Given the description of an element on the screen output the (x, y) to click on. 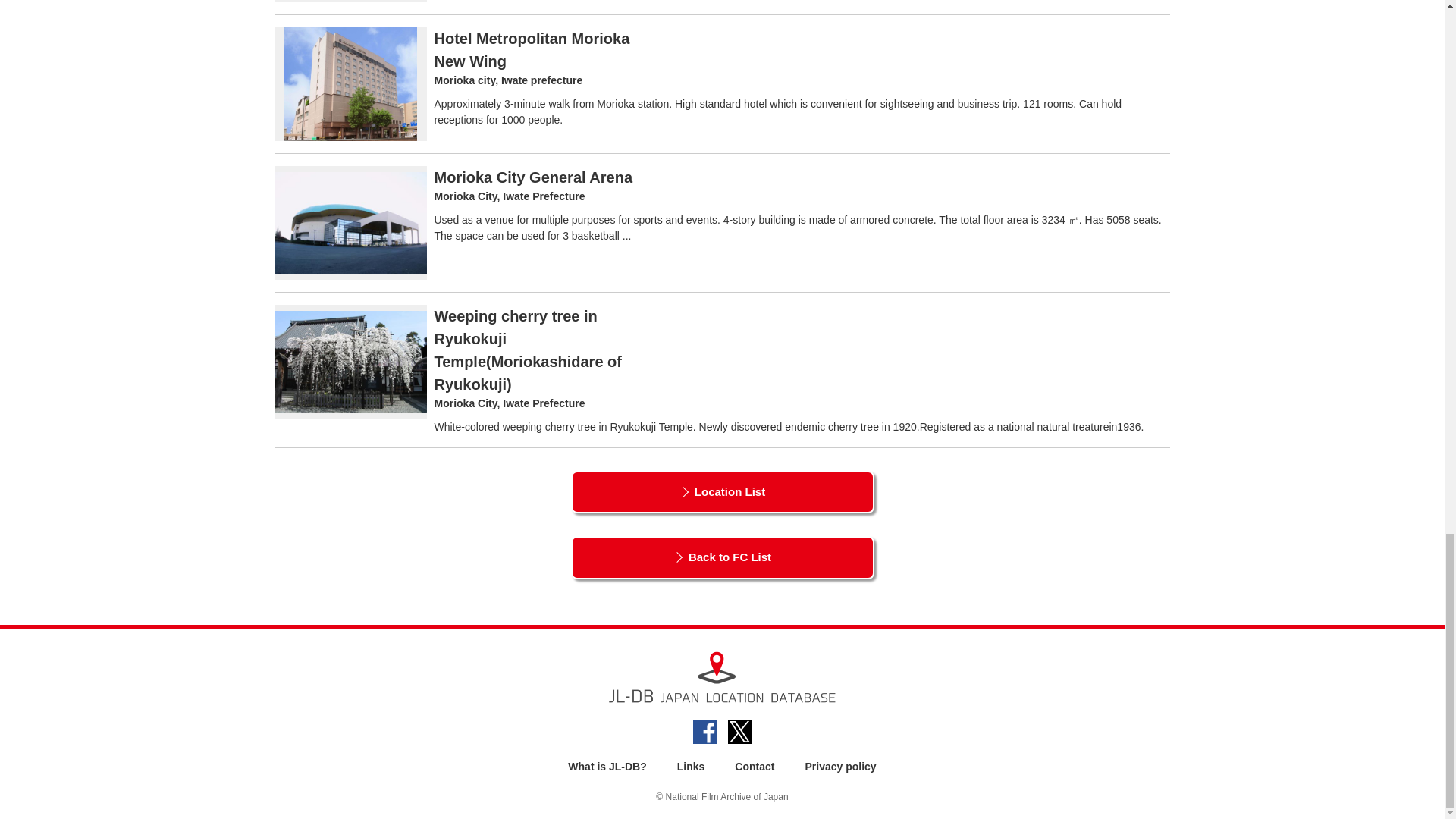
Links (690, 766)
What is JL-DB? (606, 766)
Back to FC List (721, 557)
Privacy policy (840, 766)
Contact (754, 766)
Location List (721, 492)
